Given the description of an element on the screen output the (x, y) to click on. 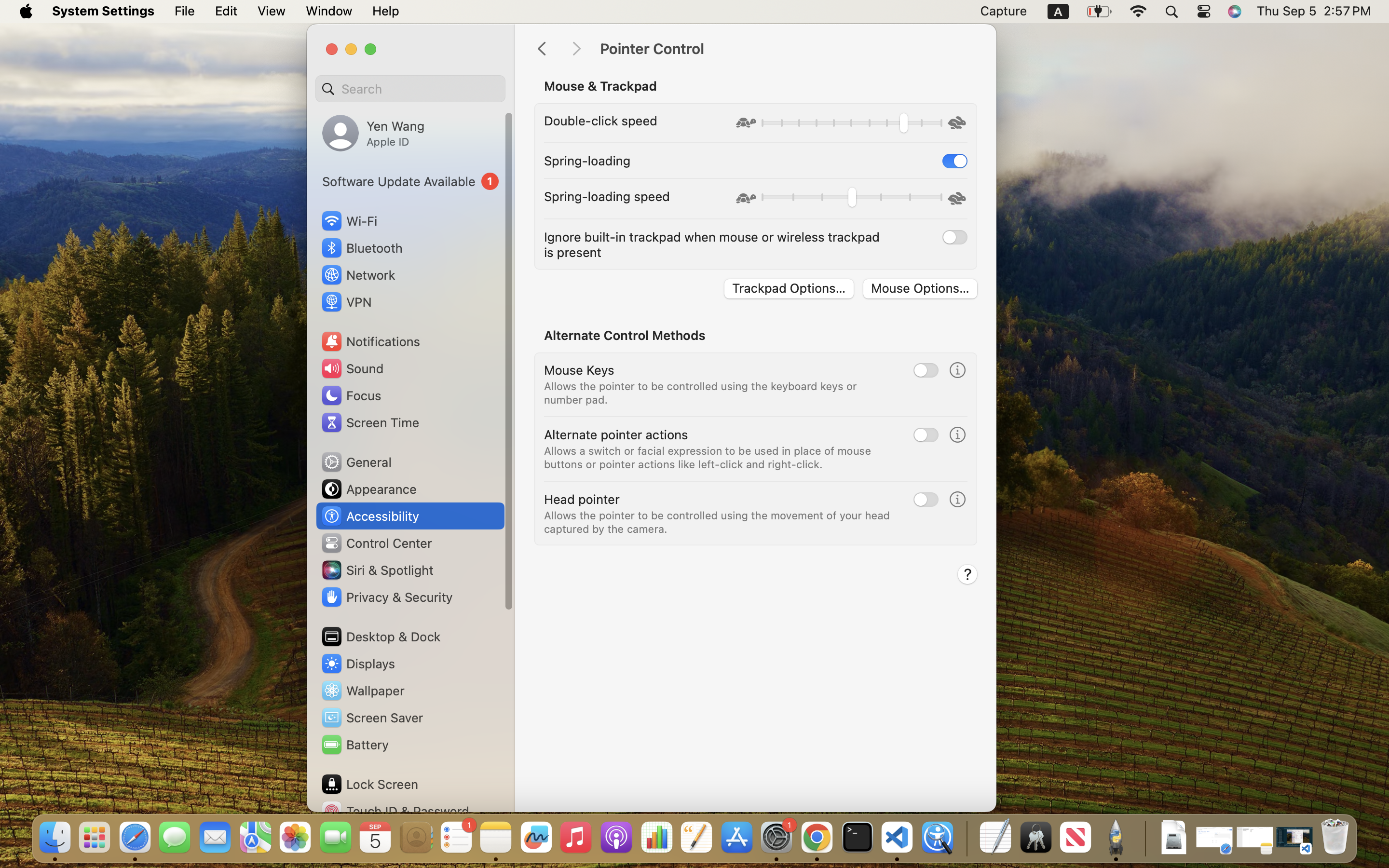
Accessibility Element type: AXStaticText (369, 515)
Wi‑Fi Element type: AXStaticText (348, 220)
Yen Wang, Apple ID Element type: AXStaticText (373, 132)
VPN Element type: AXStaticText (345, 301)
Control Center Element type: AXStaticText (376, 542)
